Given the description of an element on the screen output the (x, y) to click on. 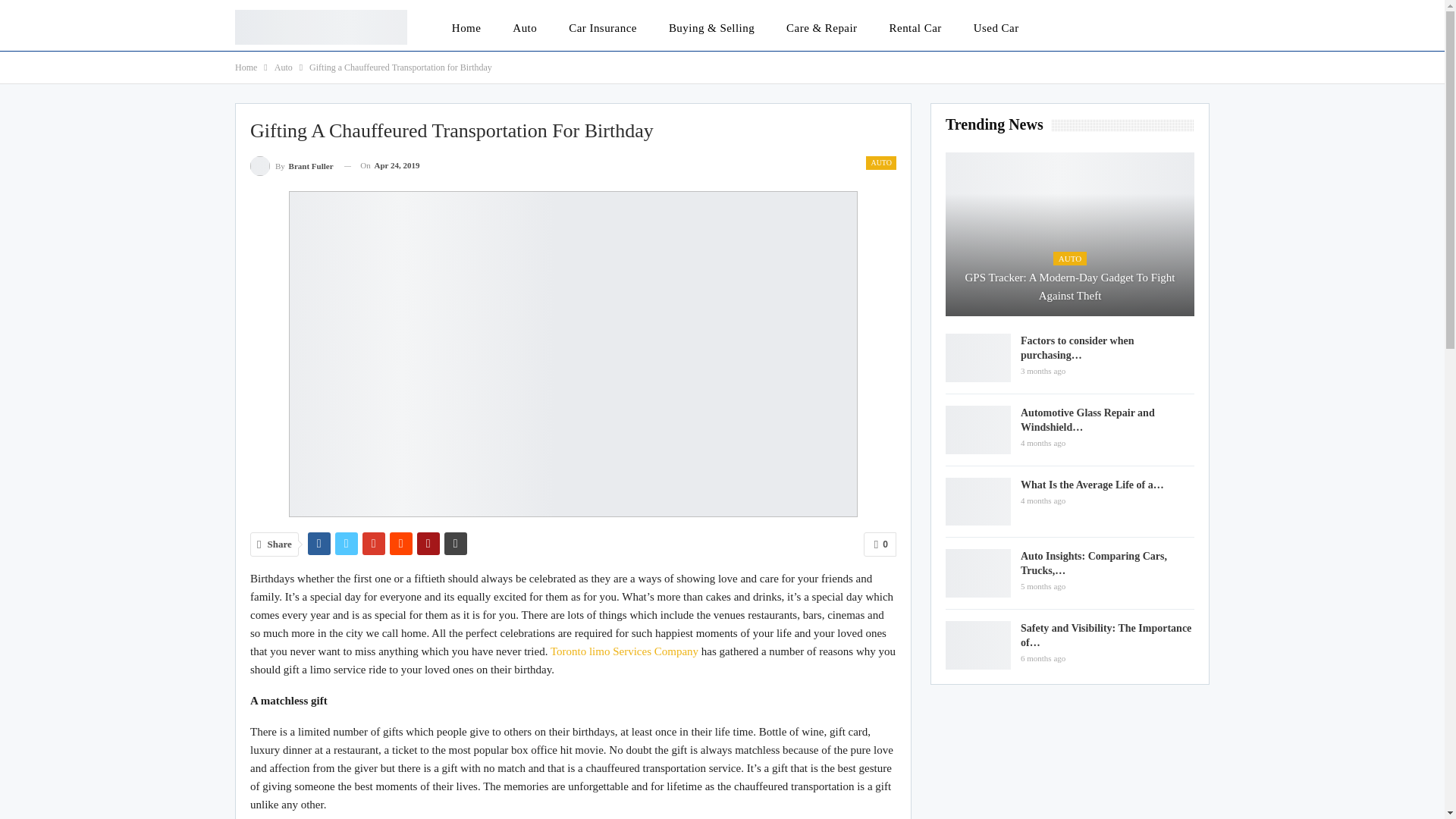
AUTO (881, 162)
Auto (283, 67)
Used Car (995, 27)
Browse Author Articles (291, 165)
Home (466, 27)
GPS Tracker: A Modern-Day Gadget to Fight Against Theft (1069, 233)
Rental Car (915, 27)
By Brant Fuller (291, 165)
Car Insurance (602, 27)
Auto (524, 27)
Home (245, 67)
Toronto limo Services Company (624, 651)
0 (879, 544)
